Given the description of an element on the screen output the (x, y) to click on. 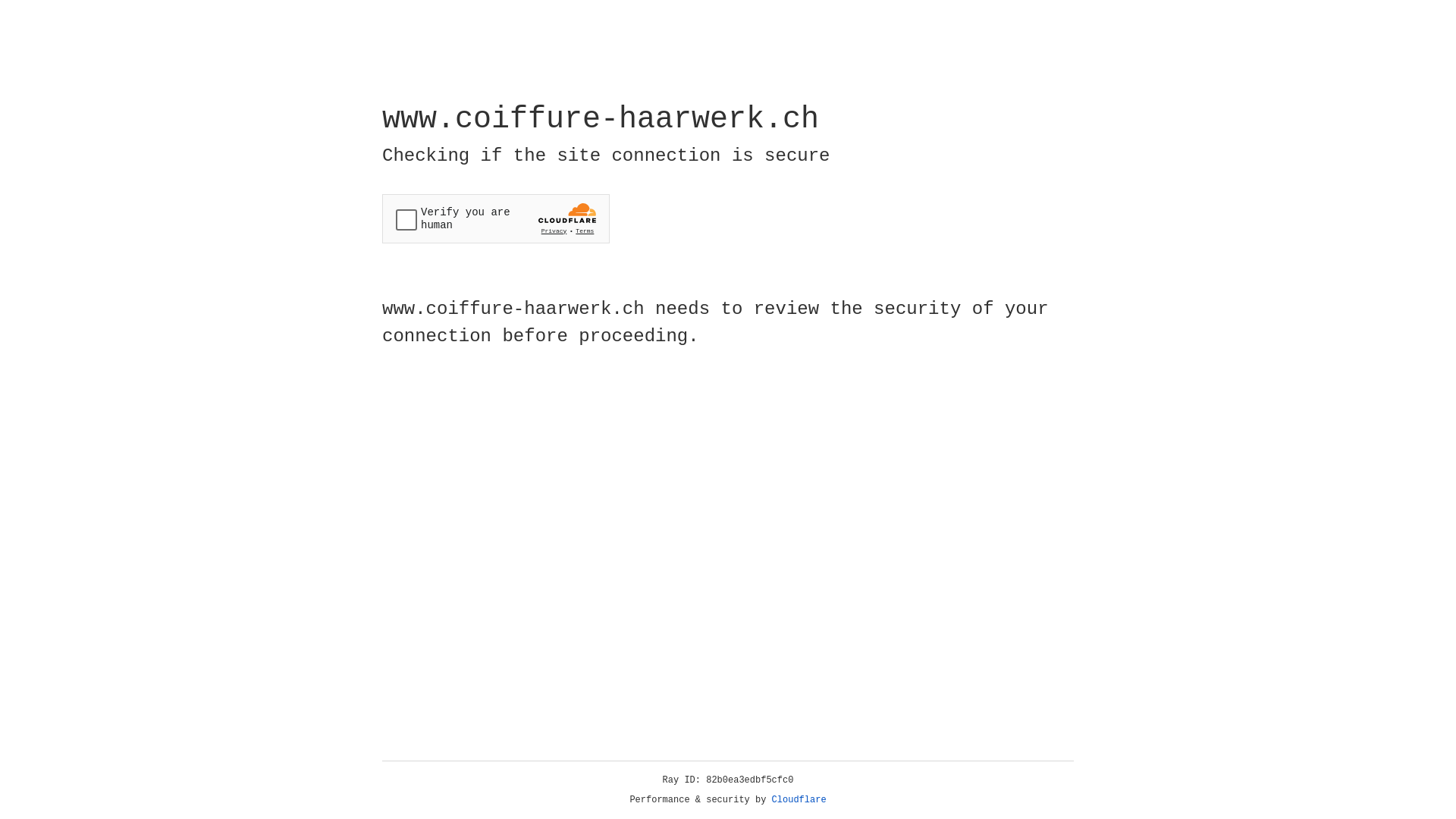
Widget containing a Cloudflare security challenge Element type: hover (495, 218)
Cloudflare Element type: text (798, 799)
